Given the description of an element on the screen output the (x, y) to click on. 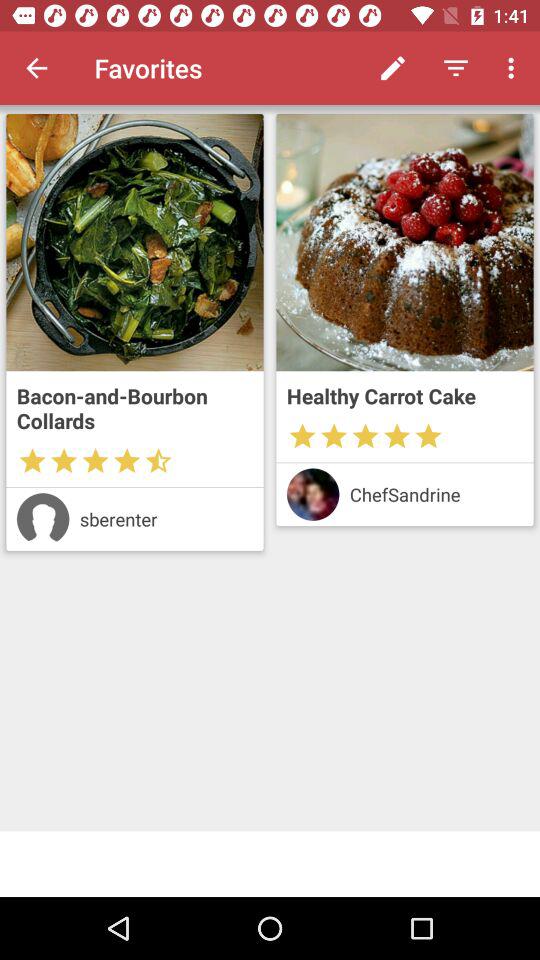
go to profile page (312, 494)
